Given the description of an element on the screen output the (x, y) to click on. 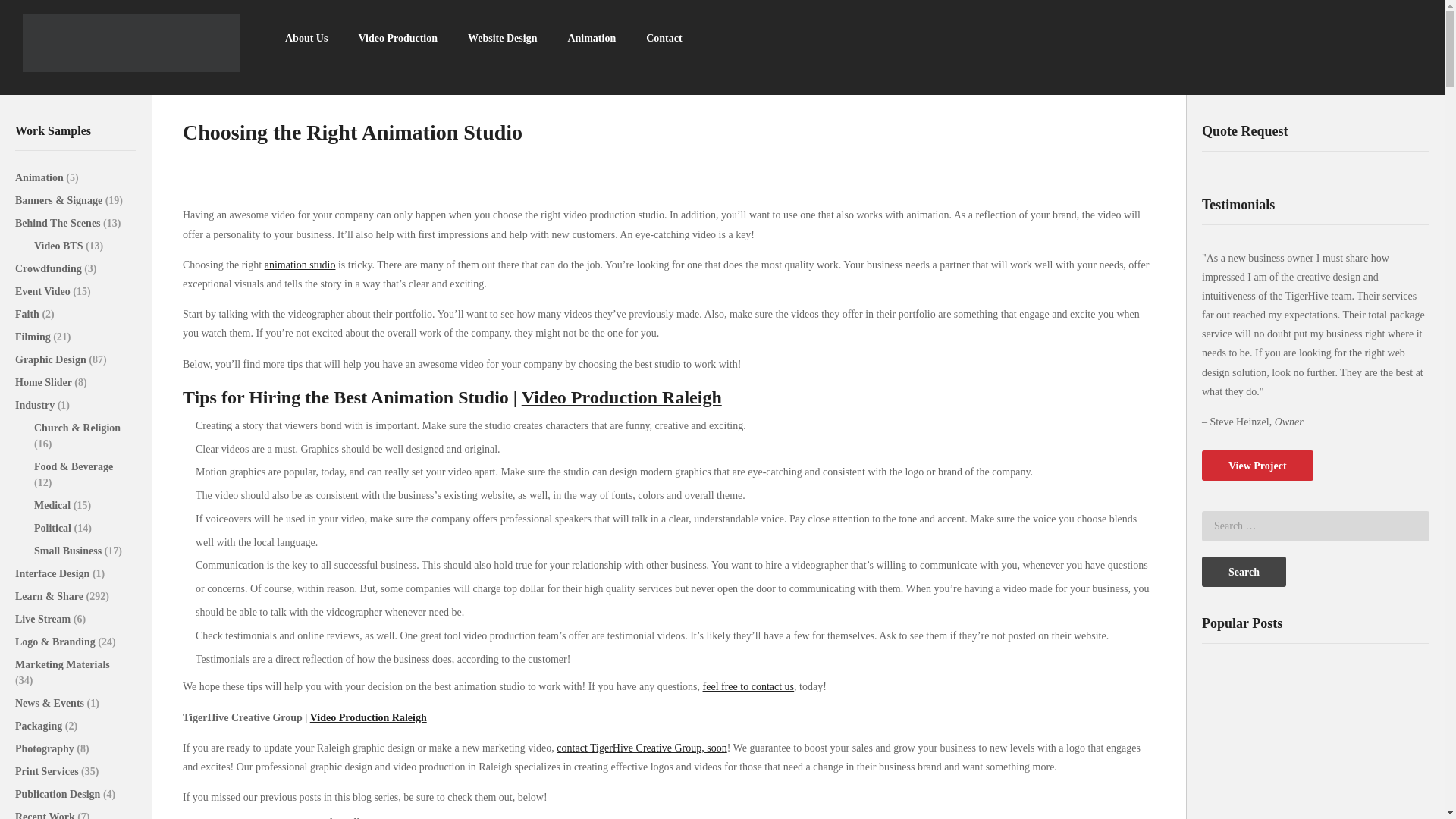
Home Slider (44, 382)
Search (1243, 571)
Graphic Design (51, 359)
Animation (590, 38)
Filming (33, 337)
Faith (28, 314)
TigerHive Creative Group (131, 42)
Event Video (43, 291)
Crowdfunding (49, 268)
Political (53, 527)
